Given the description of an element on the screen output the (x, y) to click on. 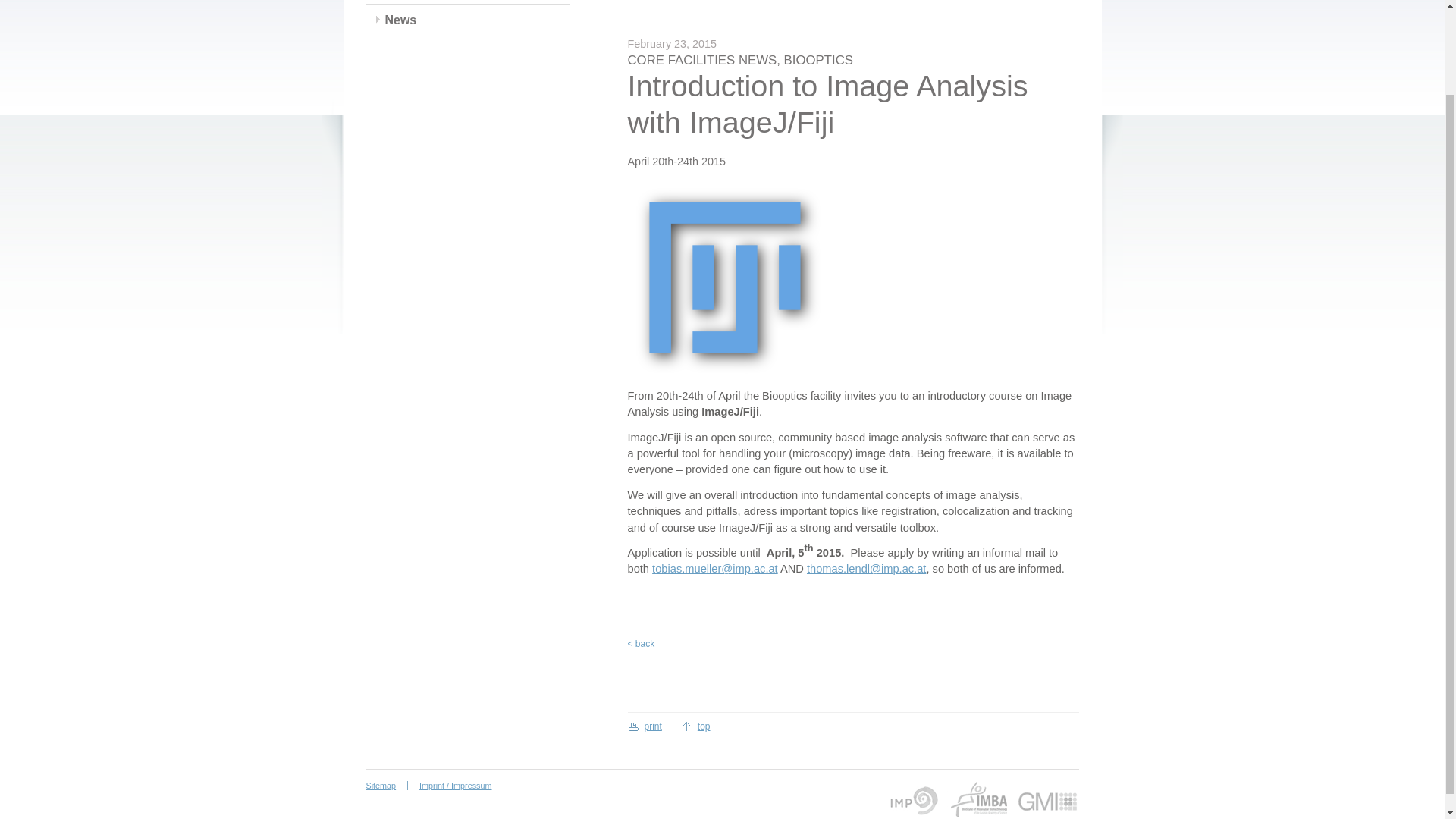
News (400, 20)
News (400, 20)
top (695, 726)
Sitemap (386, 785)
print (644, 726)
